Given the description of an element on the screen output the (x, y) to click on. 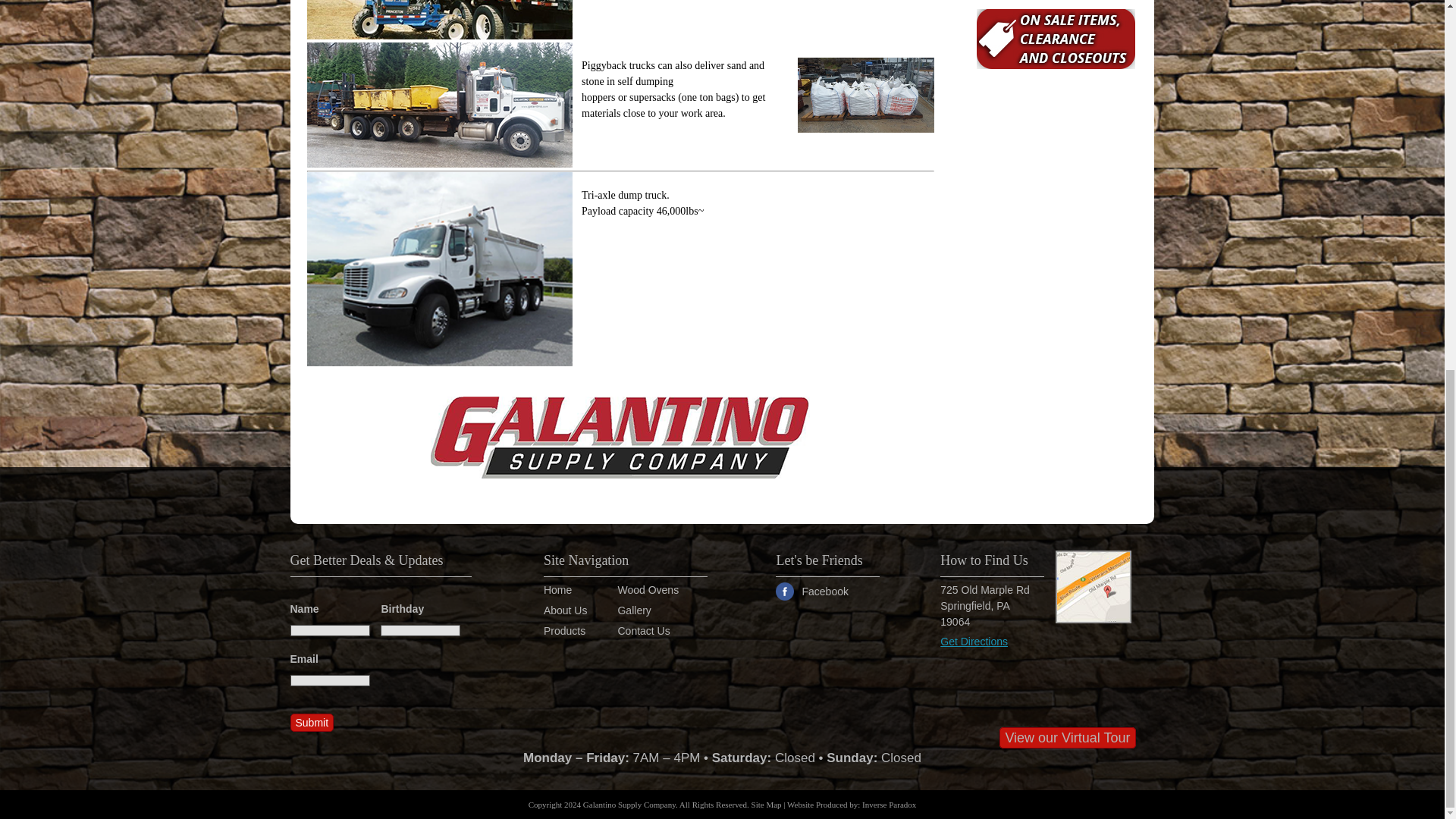
Submit (311, 722)
